Given the description of an element on the screen output the (x, y) to click on. 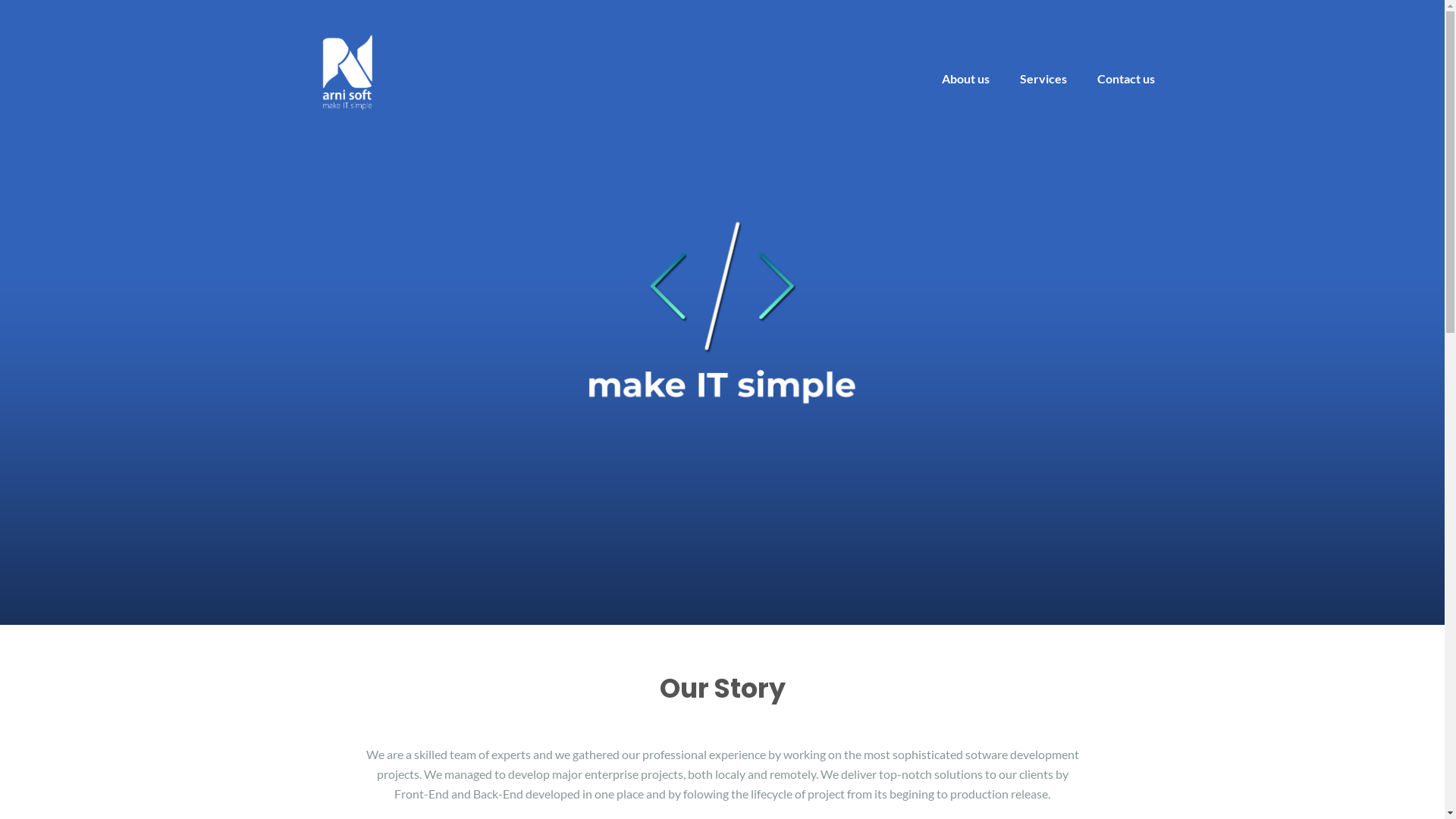
Contact us Element type: text (1125, 78)
arni soft Element type: hover (346, 69)
About us Element type: text (965, 78)
Services Element type: text (1042, 78)
